Given the description of an element on the screen output the (x, y) to click on. 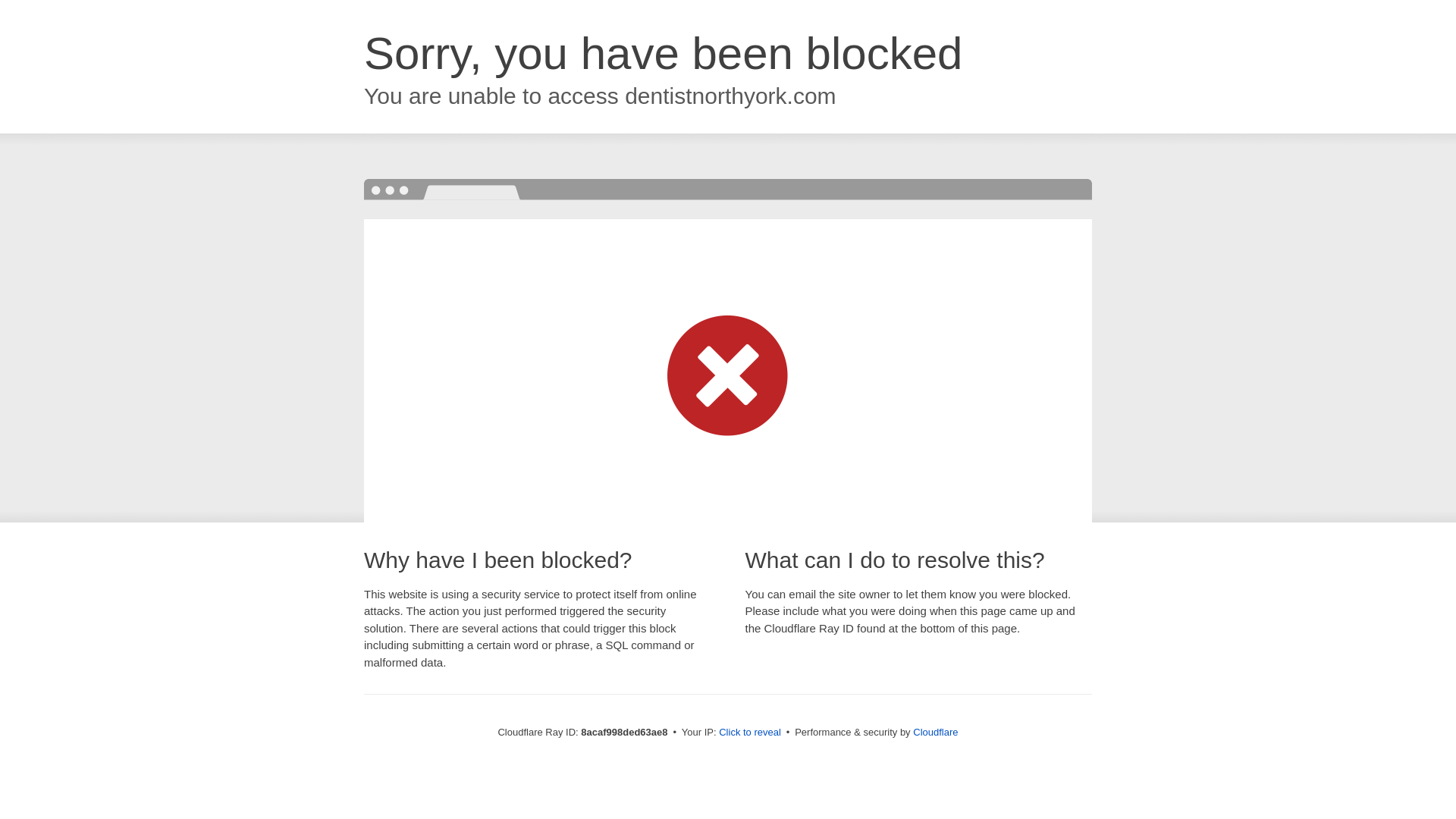
Cloudflare (935, 731)
Click to reveal (749, 732)
